Given the description of an element on the screen output the (x, y) to click on. 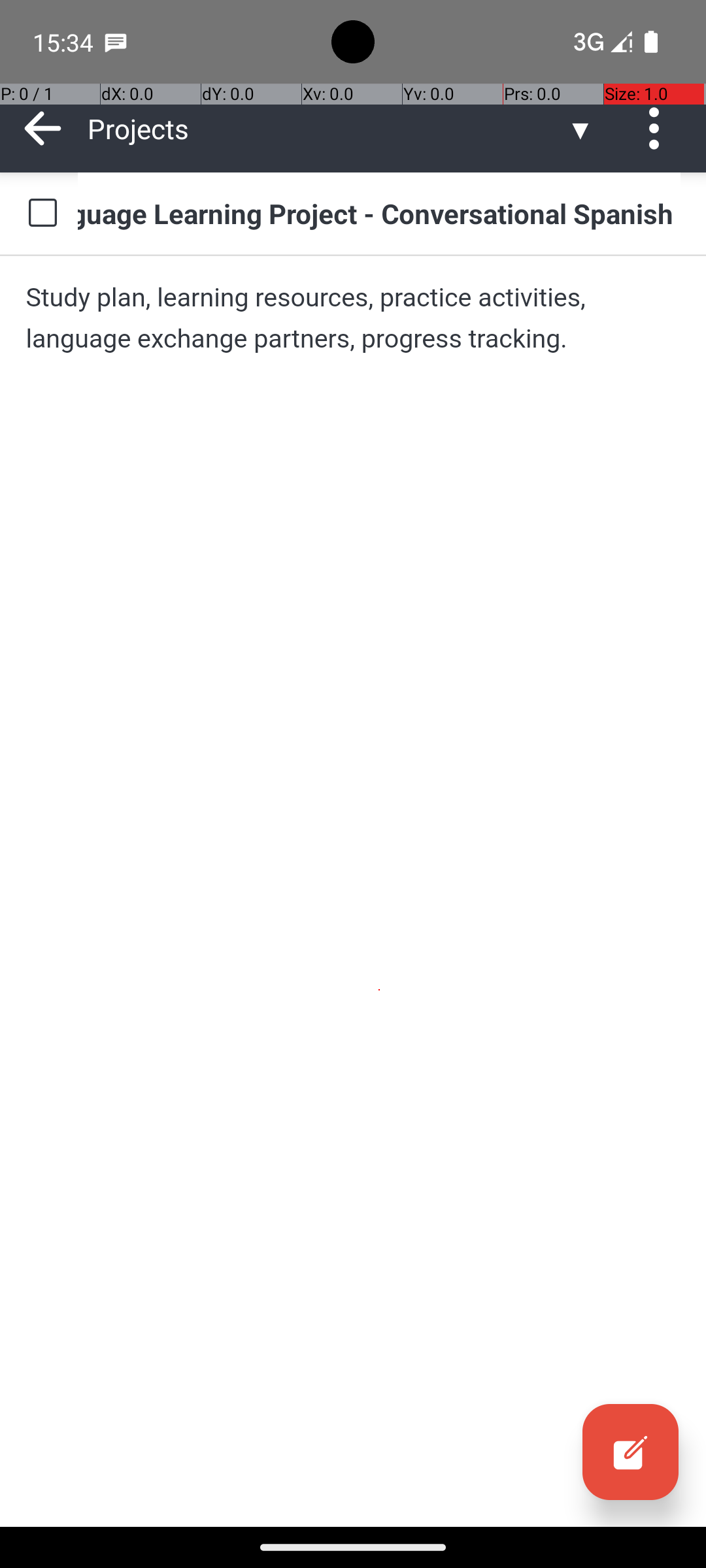
Language Learning Project - Conversational Spanish Element type: android.widget.EditText (378, 213)
Edit, collapsed Element type: android.widget.Button (630, 1452)
Projects Element type: android.widget.TextView (326, 128)
 Element type: android.widget.TextView (630, 1451)
Study plan, learning resources, practice activities, language exchange partners, progress tracking. Element type: android.widget.TextView (352, 317)
